Given the description of an element on the screen output the (x, y) to click on. 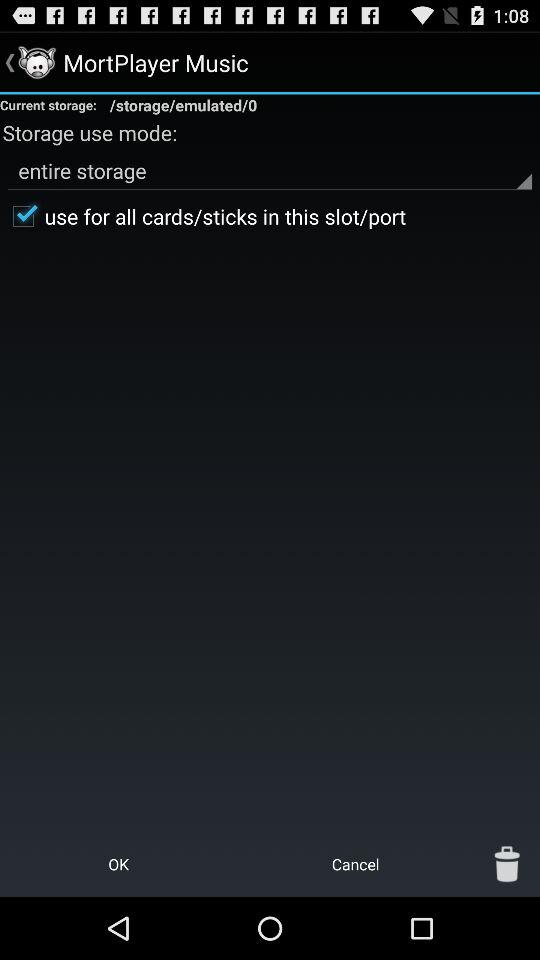
delete item (507, 864)
